Given the description of an element on the screen output the (x, y) to click on. 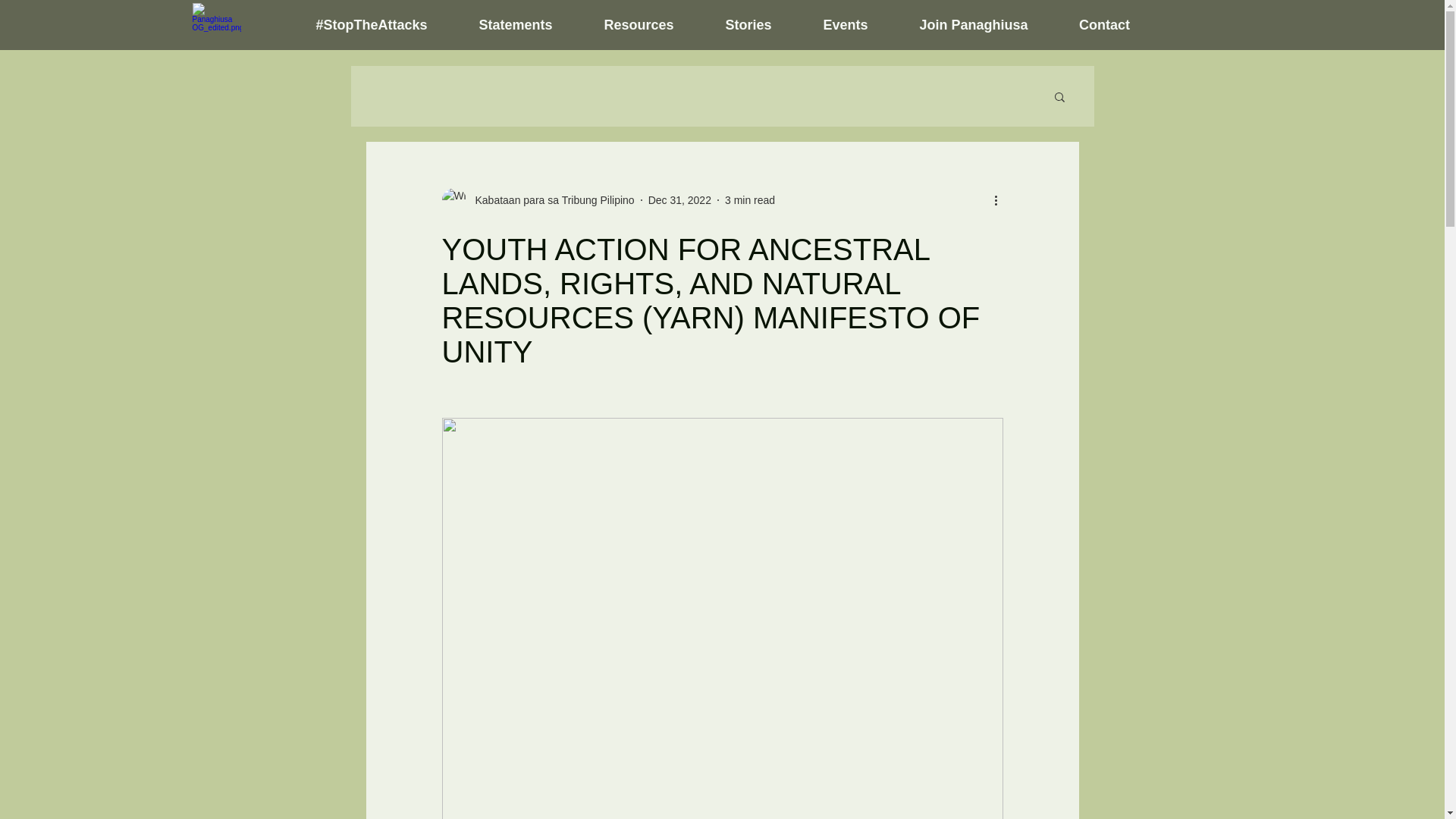
Join Panaghiusa (972, 24)
3 min read (749, 200)
Dec 31, 2022 (679, 200)
Statements (515, 24)
Stories (747, 24)
Panaghiusa OG.png (216, 25)
Resources (638, 24)
Events (845, 24)
Kabataan para sa Tribung Pilipino (549, 200)
Contact (1105, 24)
